Given the description of an element on the screen output the (x, y) to click on. 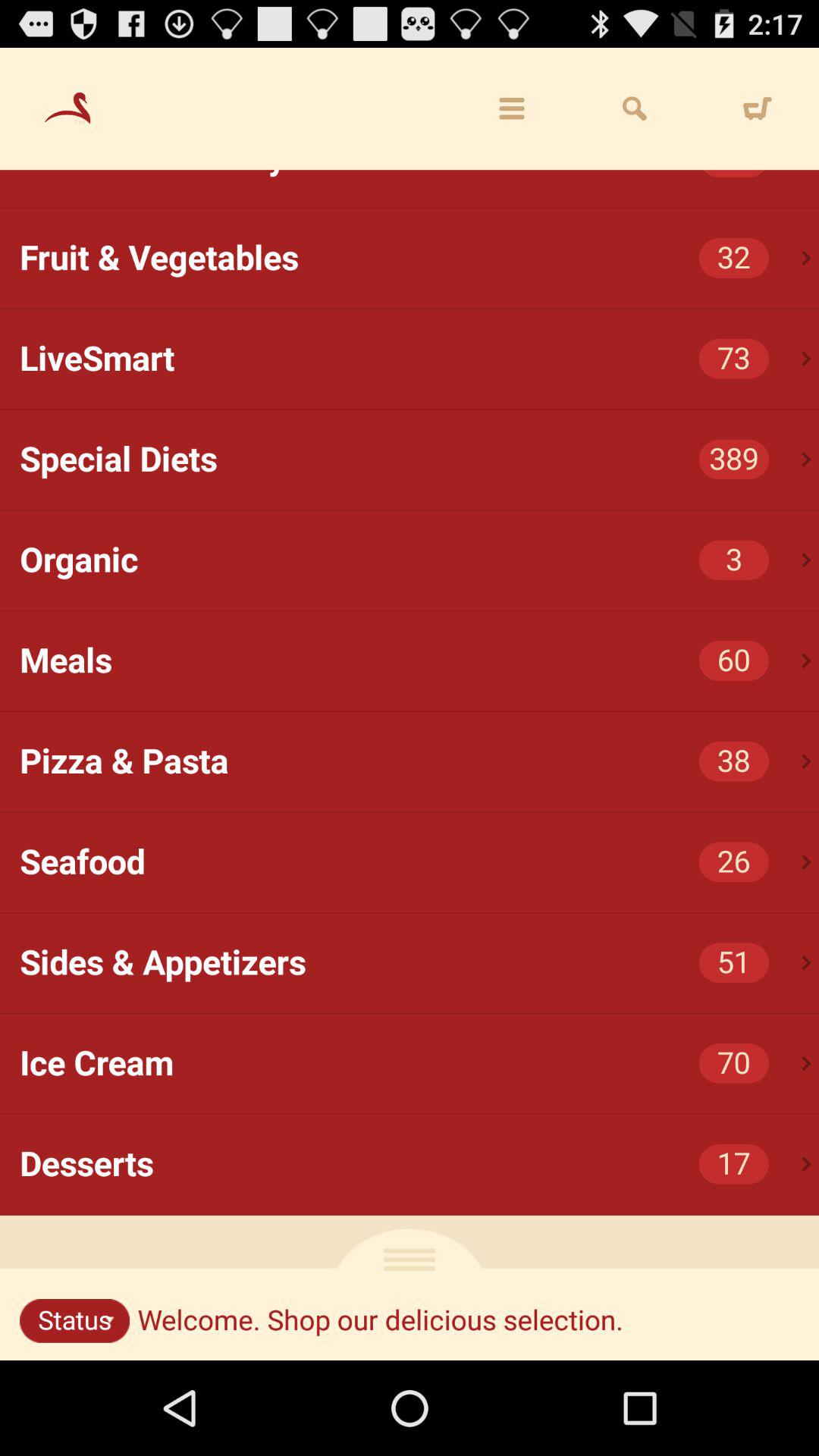
turn on icon below the livesmart (419, 459)
